Given the description of an element on the screen output the (x, y) to click on. 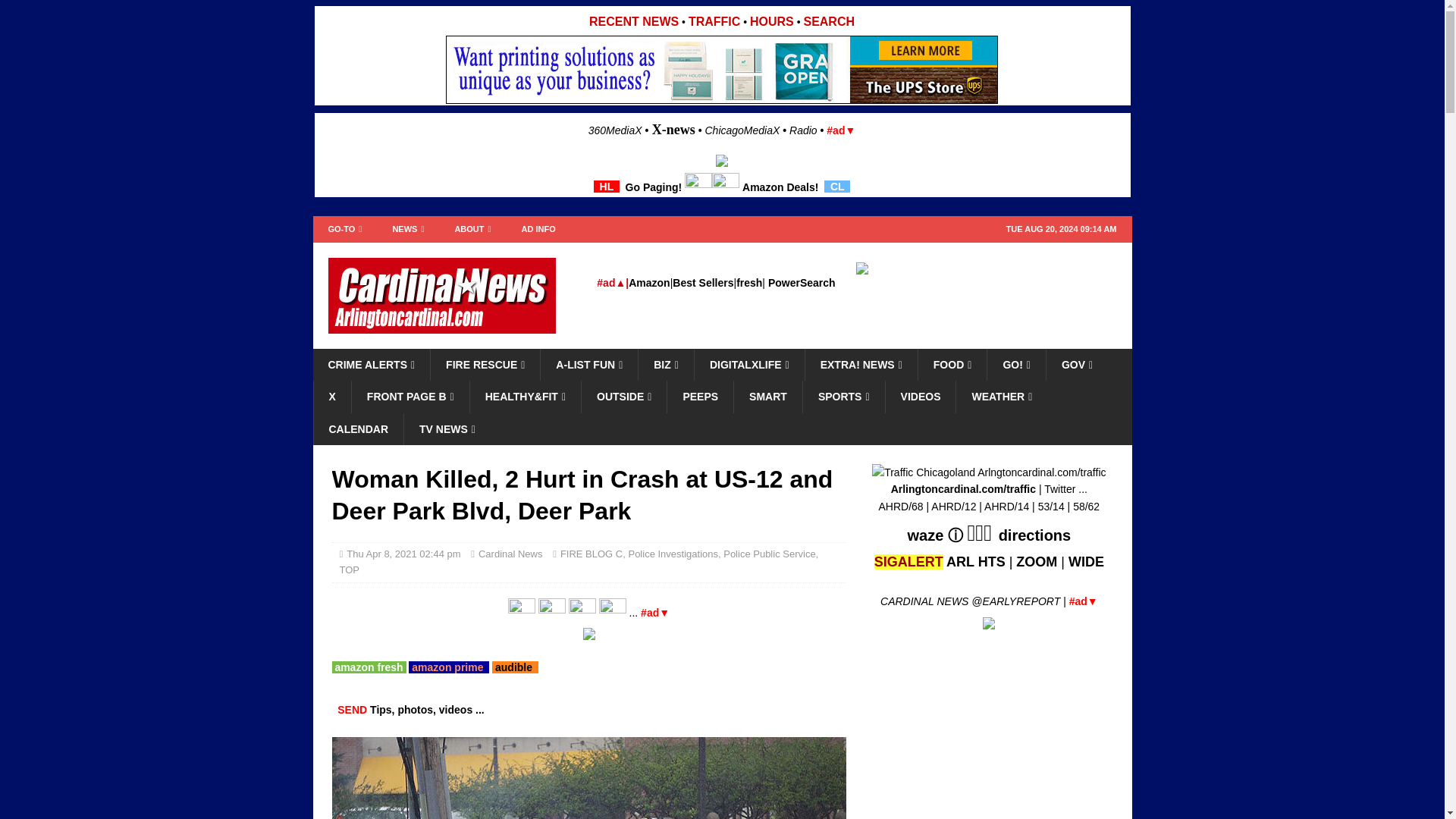
GO-TO (345, 229)
HOURS (771, 21)
SEARCH (828, 21)
Radio (802, 130)
X-news (673, 129)
  CL   (837, 186)
ChicagoMediaX (742, 130)
Go Paging! (654, 186)
Amazon Deals! (780, 186)
TRAFFIC (713, 21)
